Given the description of an element on the screen output the (x, y) to click on. 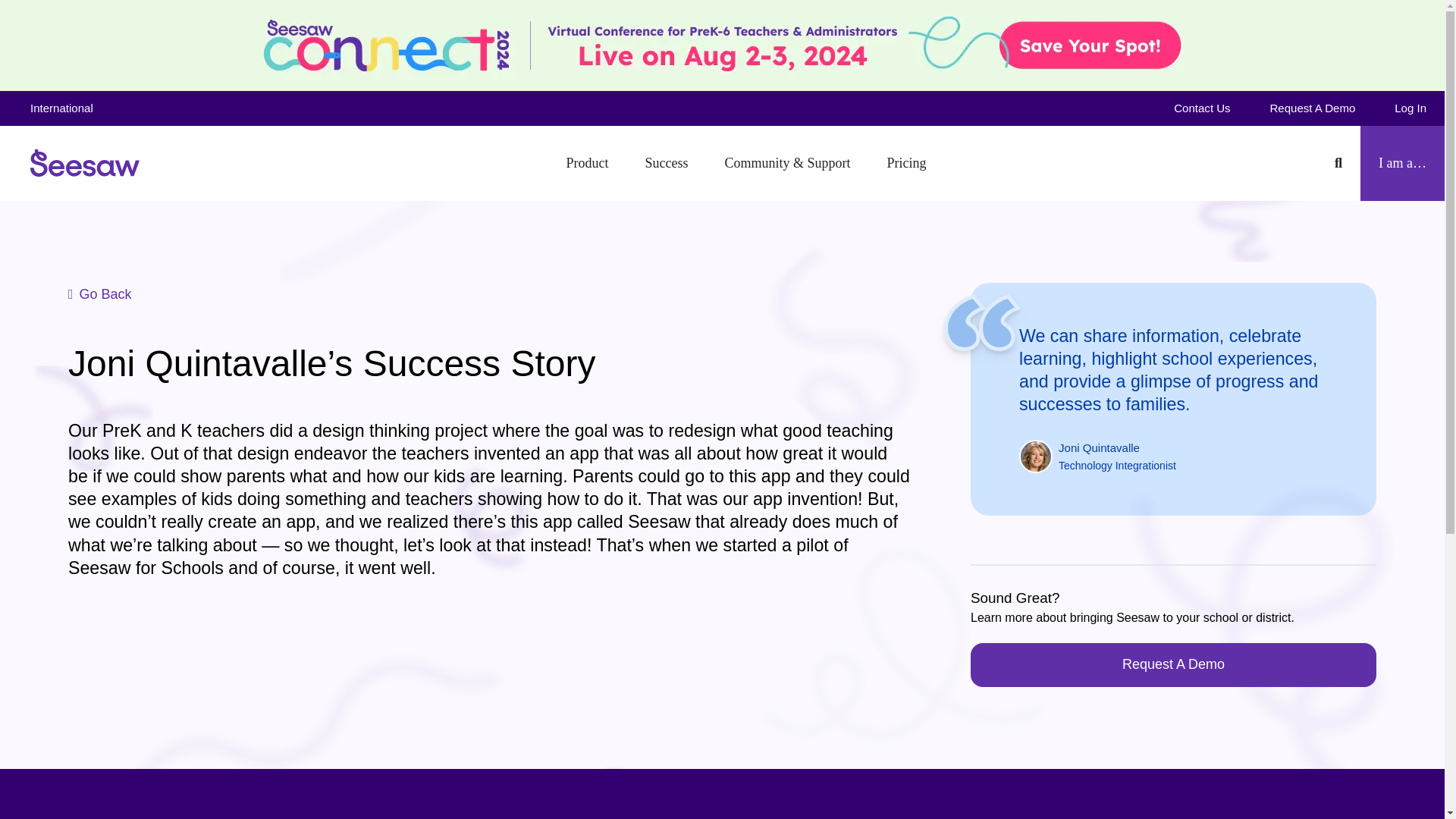
Product (586, 163)
Success (666, 163)
Contact Us (1201, 108)
Request A Demo (1311, 108)
International (71, 108)
